Given the description of an element on the screen output the (x, y) to click on. 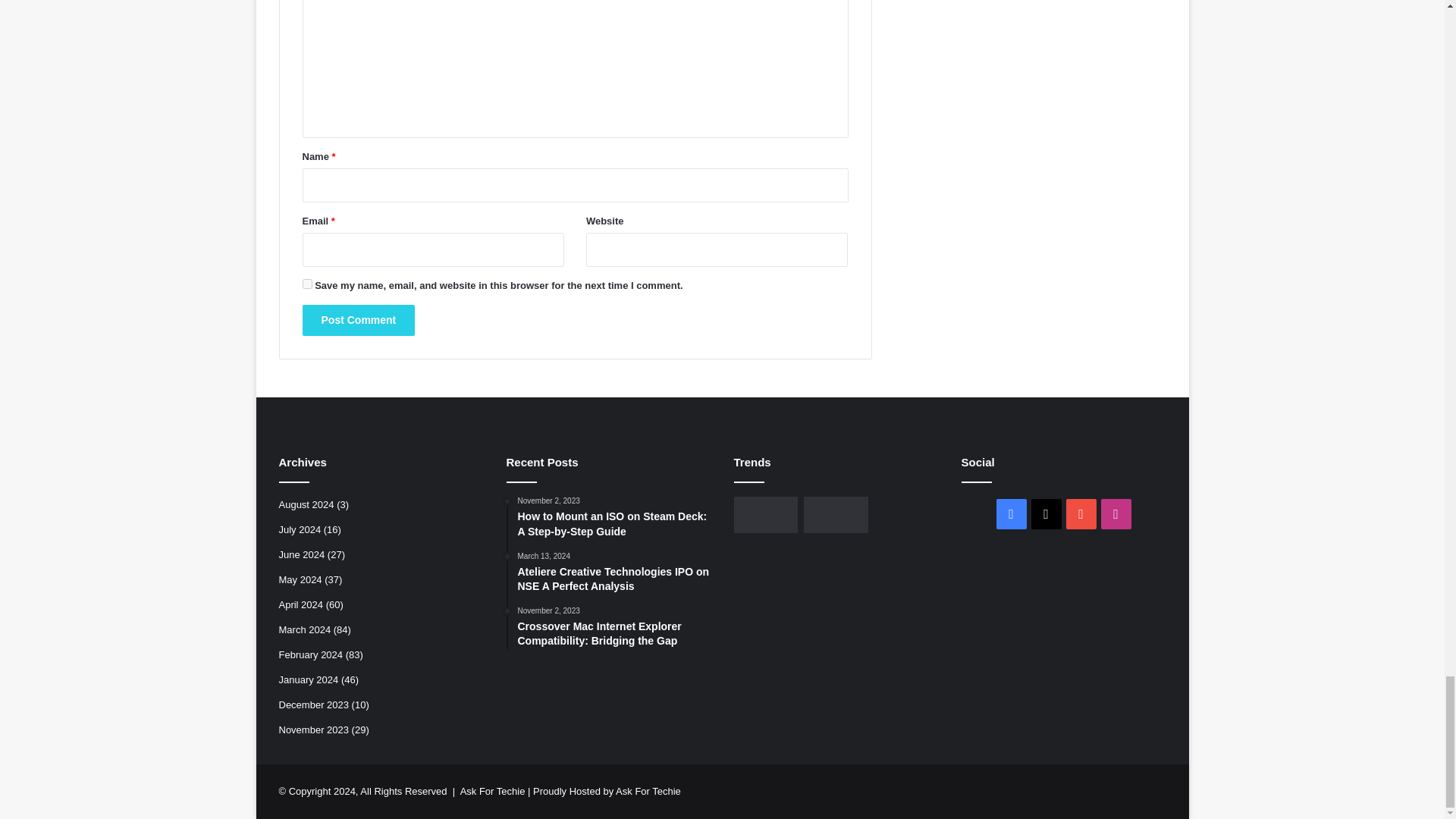
Post Comment (357, 319)
yes (306, 284)
Post Comment (357, 319)
